Given the description of an element on the screen output the (x, y) to click on. 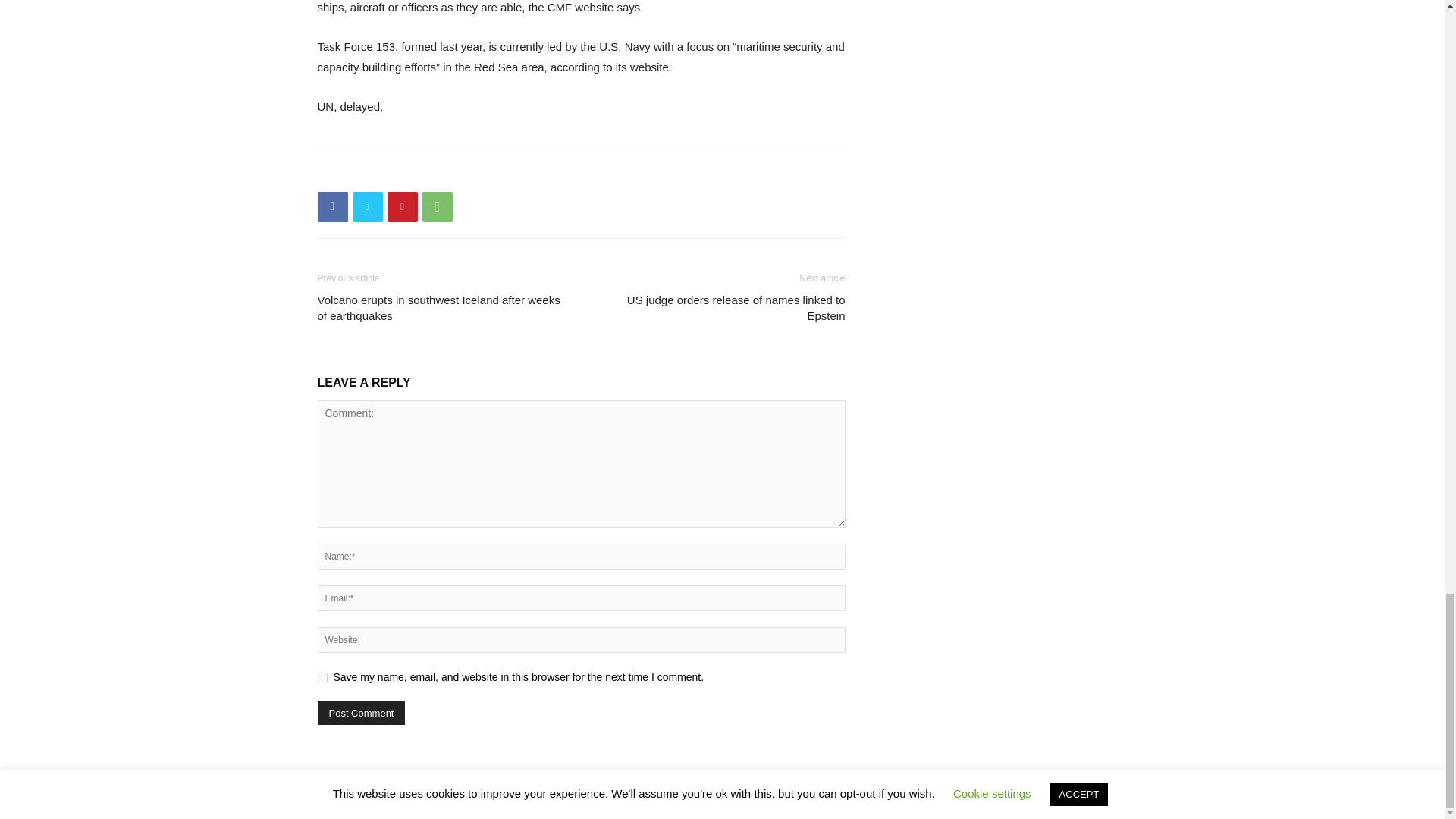
WhatsApp (436, 206)
Spiegel News (905, 804)
Privacy Policy (975, 804)
yes (321, 677)
Post Comment (360, 712)
Pinterest (401, 206)
US judge orders release of names linked to Epstein (721, 307)
Twitter (366, 206)
Facebook (332, 206)
Post Comment (360, 712)
